Given the description of an element on the screen output the (x, y) to click on. 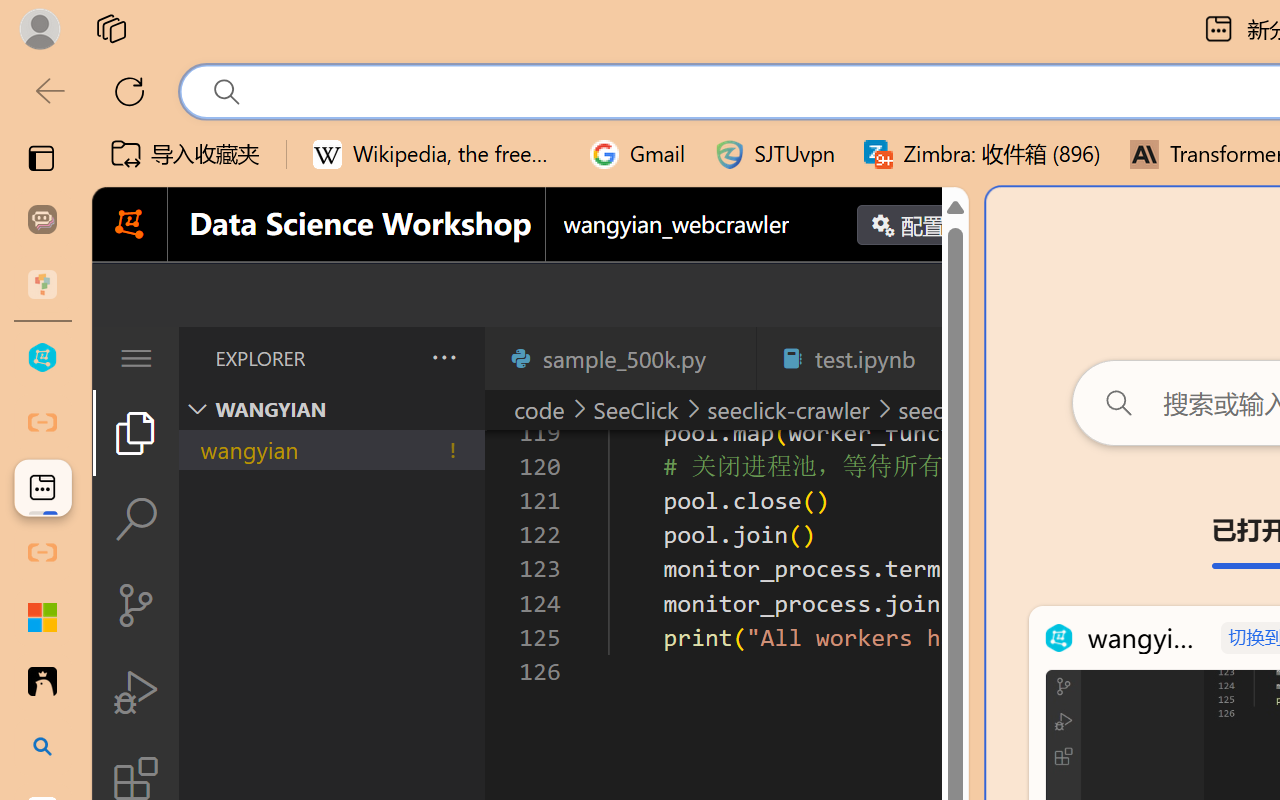
Search (Ctrl+Shift+F) (135, 519)
Tab actions (945, 358)
Close (Ctrl+F4) (946, 358)
SJTUvpn (774, 154)
Gmail (637, 154)
sample_500k.py (619, 358)
Views and More Actions... (442, 357)
